Given the description of an element on the screen output the (x, y) to click on. 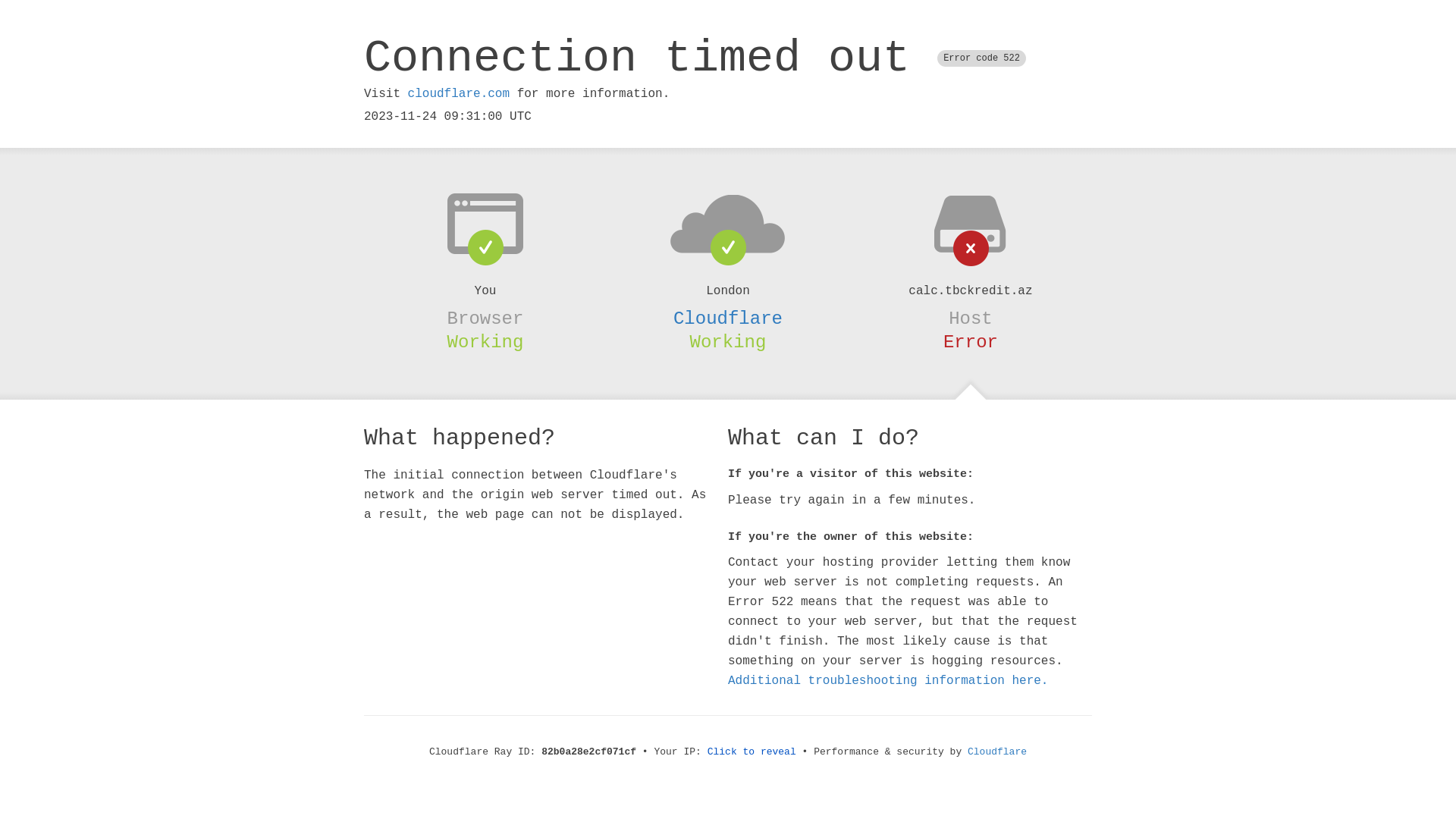
Additional troubleshooting information here. Element type: text (888, 680)
Click to reveal Element type: text (751, 751)
Cloudflare Element type: text (996, 751)
Cloudflare Element type: text (727, 318)
cloudflare.com Element type: text (458, 93)
